Given the description of an element on the screen output the (x, y) to click on. 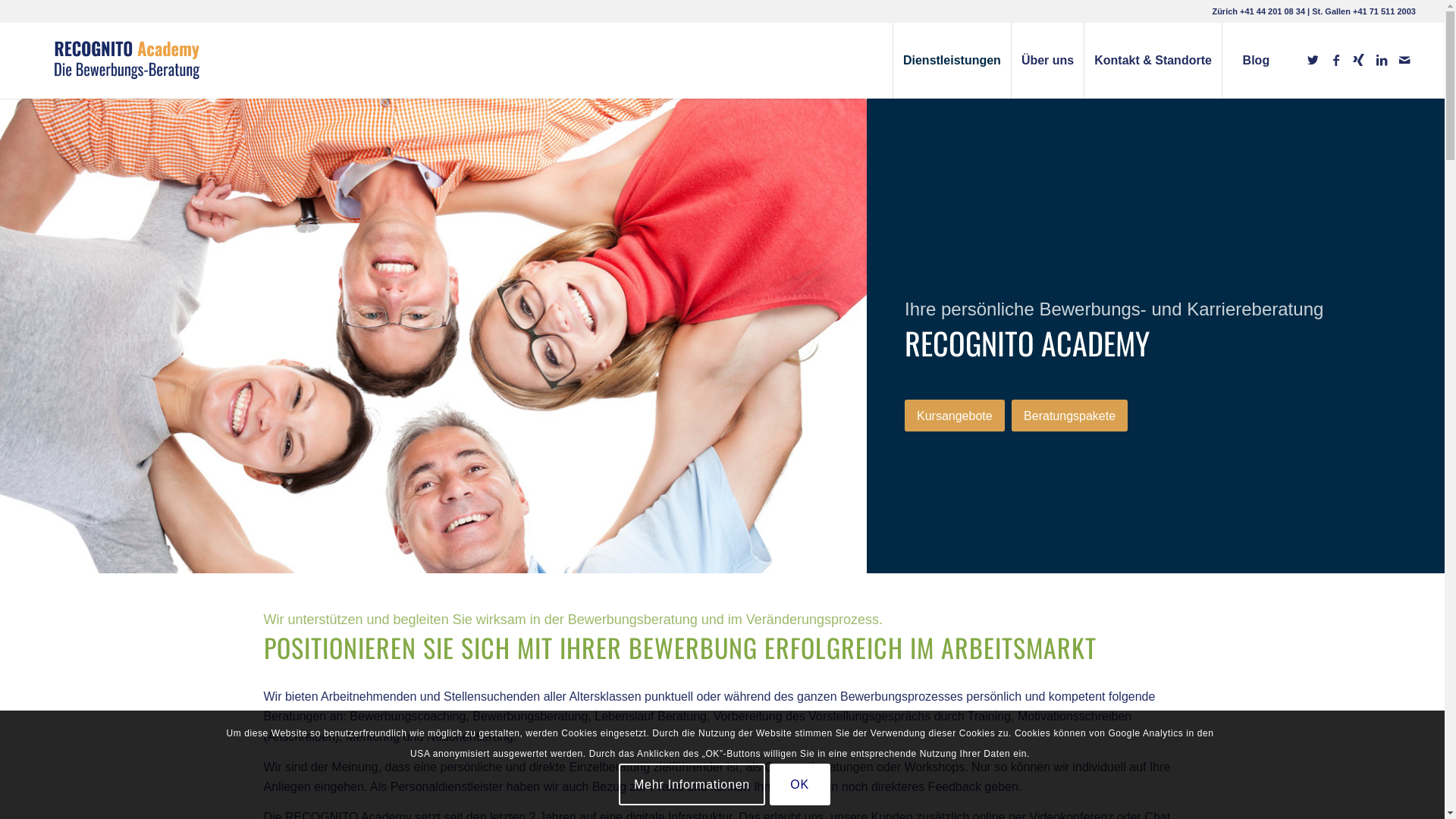
Beratungspakete Element type: text (1069, 415)
Mail Element type: hover (1404, 59)
Twitter Element type: hover (1313, 59)
Facebook Element type: hover (1335, 59)
Dienstleistungen Element type: text (951, 60)
Kursangebote Element type: text (954, 415)
Xing Element type: hover (1358, 59)
Kontakt & Standorte Element type: text (1152, 60)
Mehr Informationen Element type: text (691, 784)
Blog Element type: text (1255, 60)
RECOGNITO_Academy_2-1150x630 Element type: hover (433, 335)
LinkedIn Element type: hover (1381, 59)
OK Element type: text (799, 784)
